Given the description of an element on the screen output the (x, y) to click on. 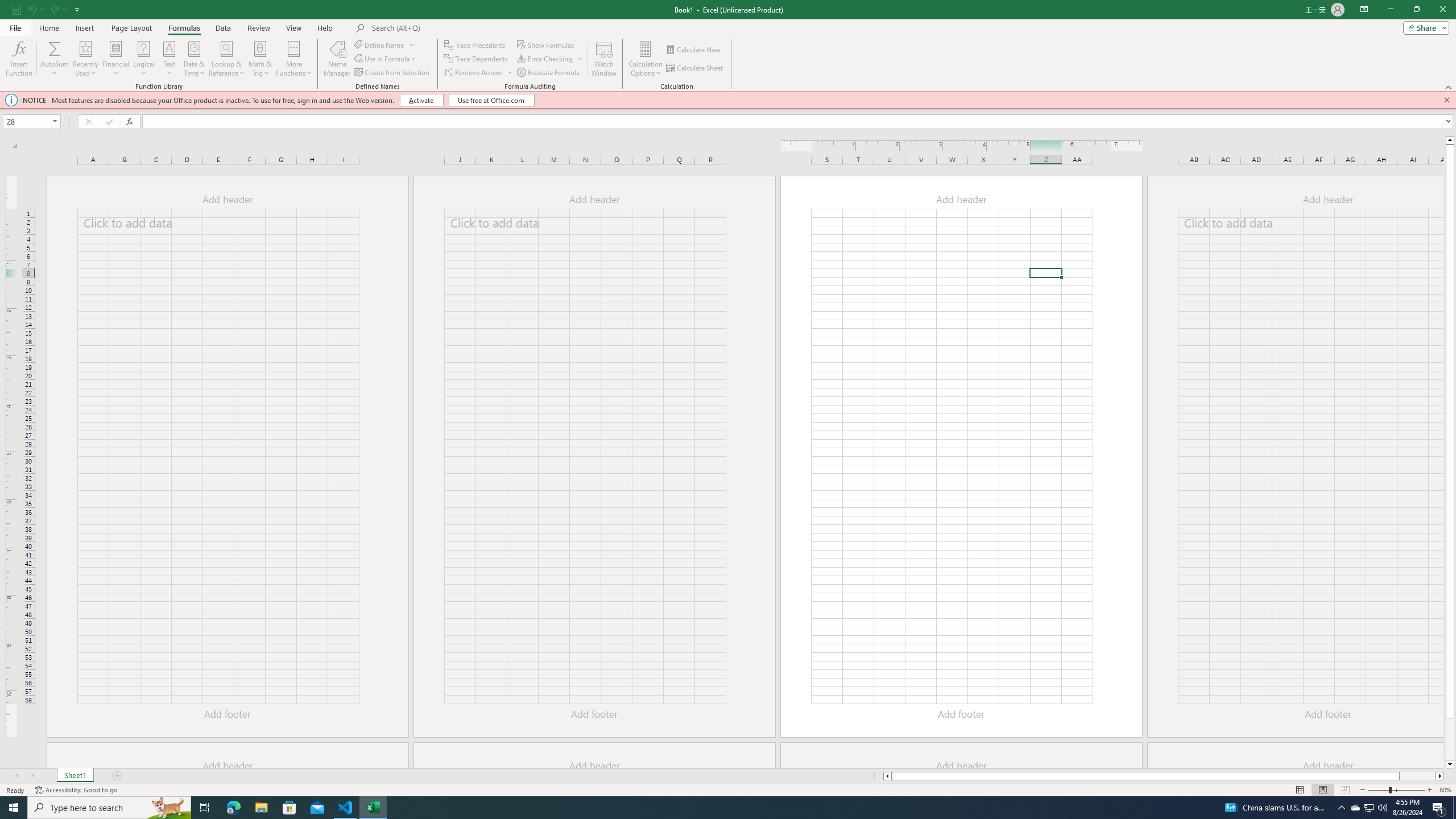
Remove Arrows (478, 72)
Define Name... (379, 44)
Remove Arrows (474, 72)
Watch Window (603, 58)
Math & Trig (260, 58)
Define Name (384, 44)
Activate (422, 100)
Show Formulas (546, 44)
Microsoft search (450, 28)
